Given the description of an element on the screen output the (x, y) to click on. 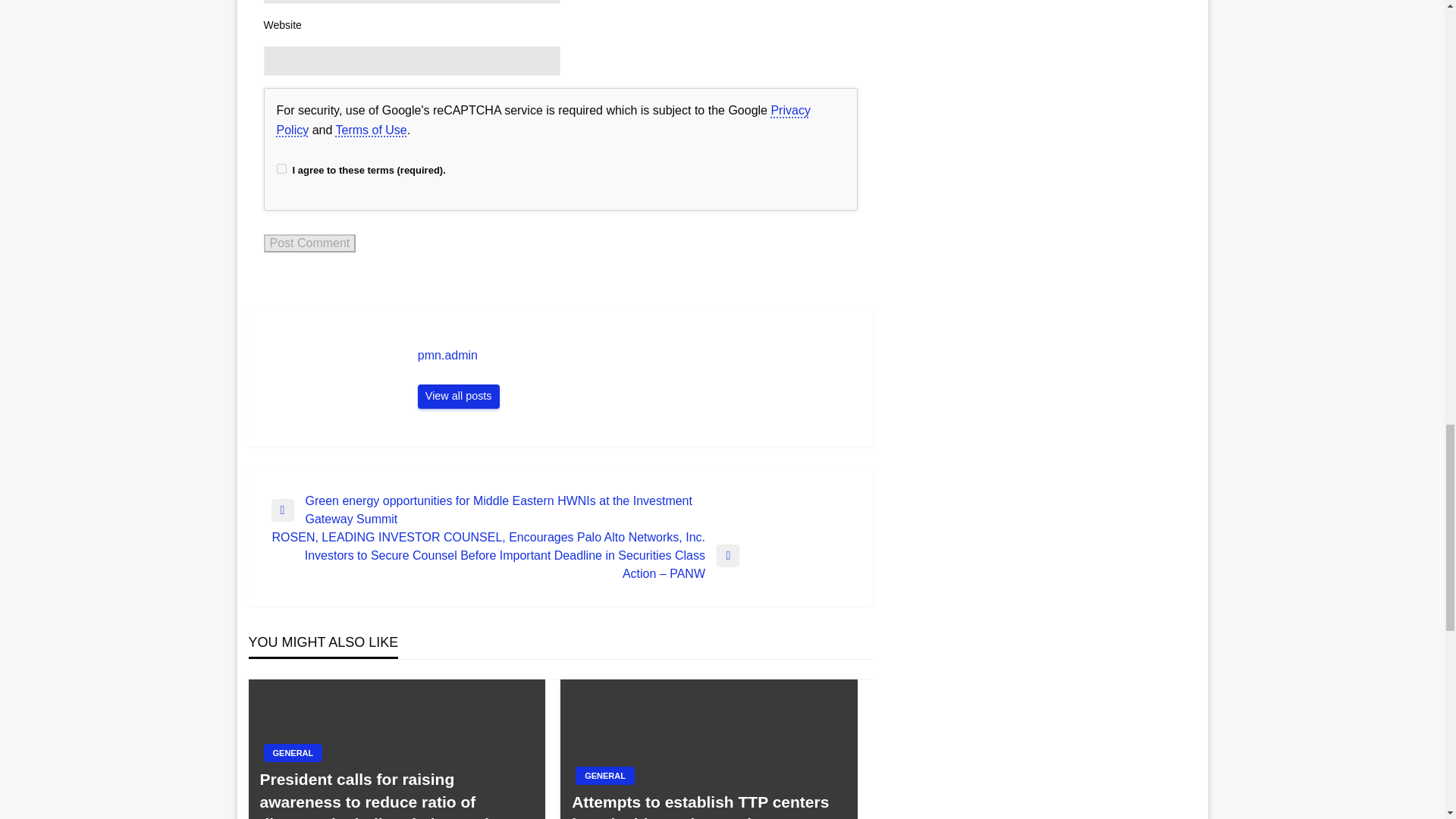
on (280, 168)
Privacy Policy (542, 120)
Terms of Use (370, 129)
Post Comment (309, 243)
View all posts (458, 396)
pmn.admin (458, 396)
pmn.admin (637, 355)
pmn.admin (637, 355)
GENERAL (293, 752)
Post Comment (309, 243)
